Given the description of an element on the screen output the (x, y) to click on. 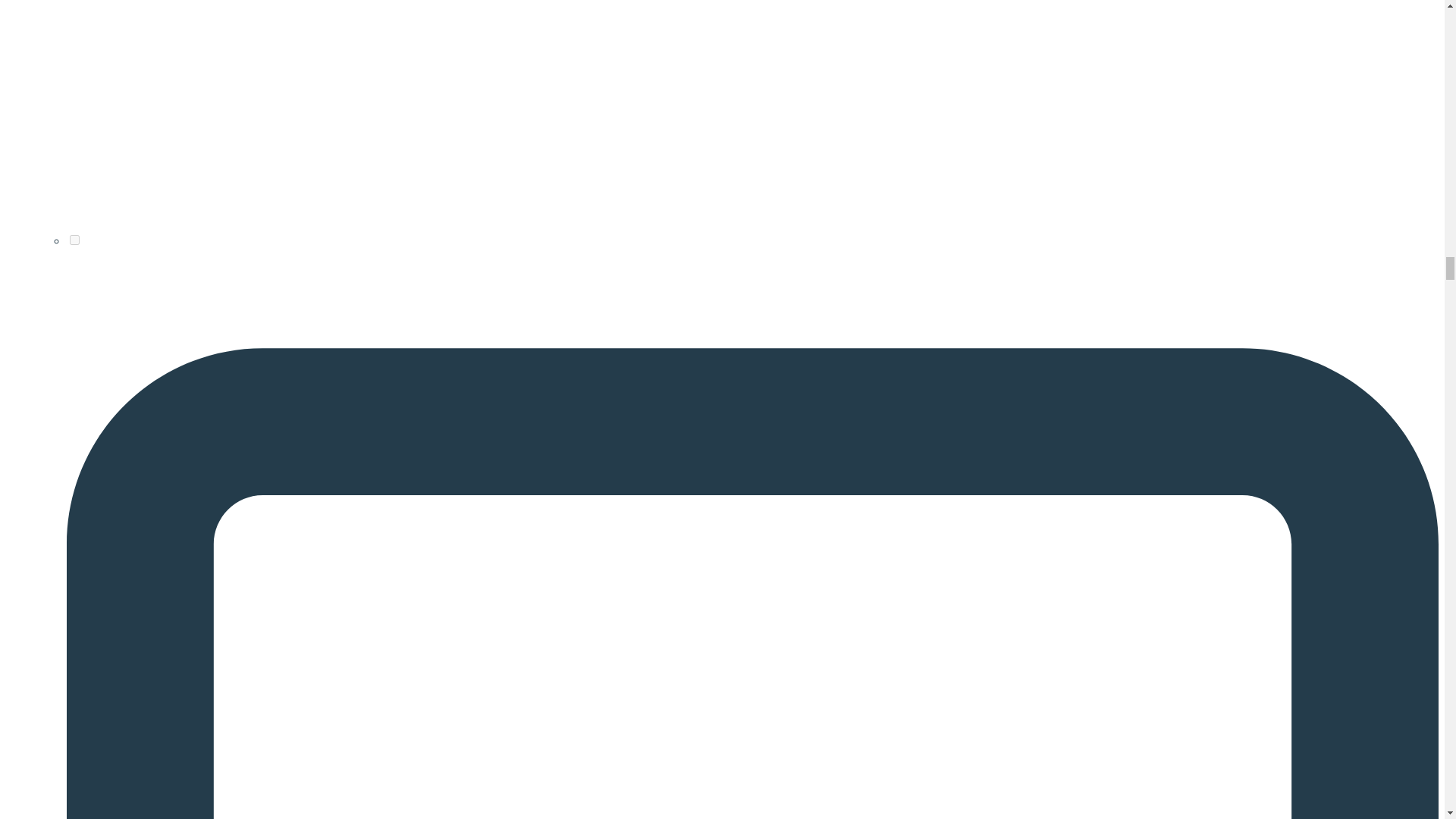
on (74, 239)
